Given the description of an element on the screen output the (x, y) to click on. 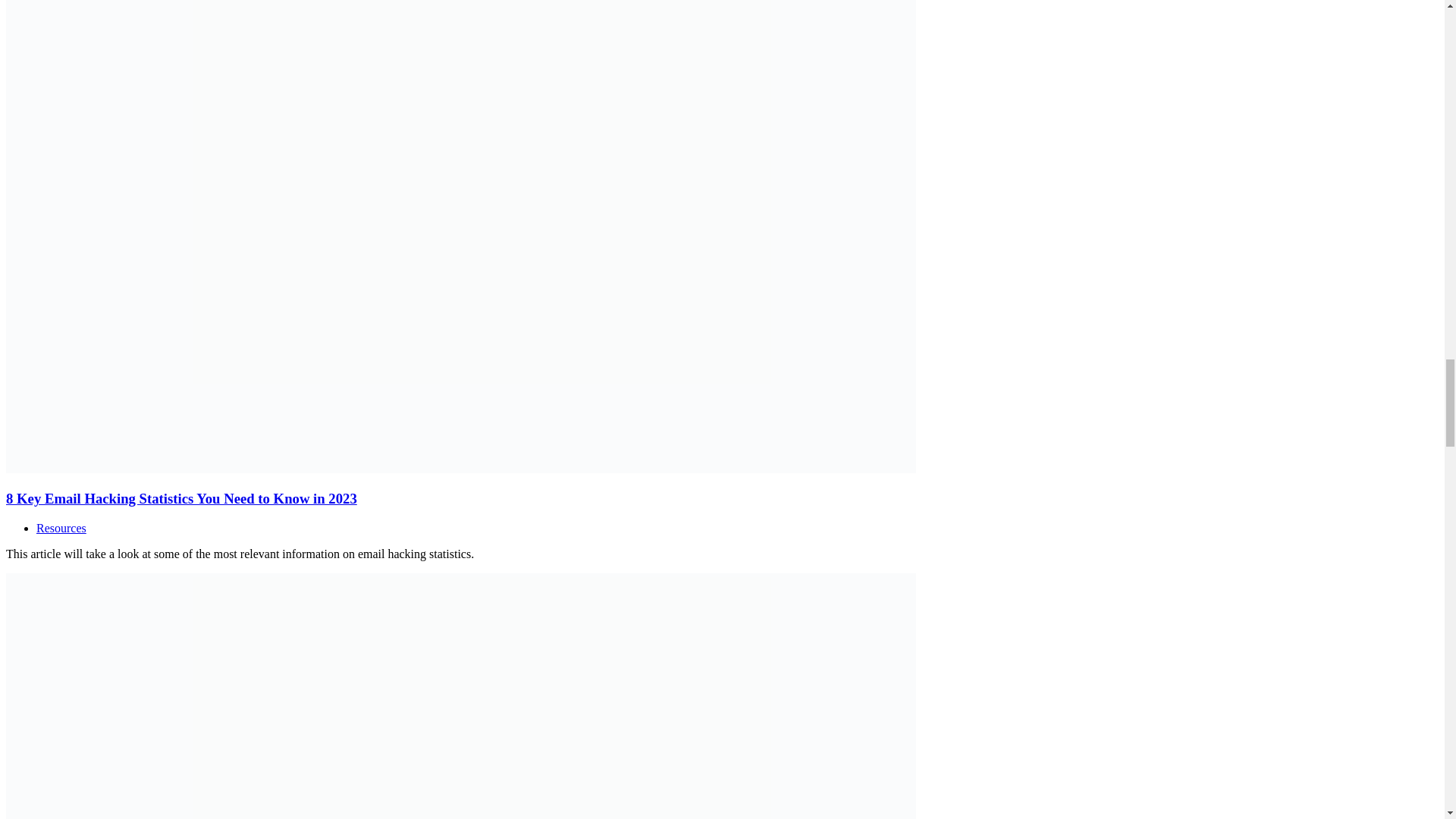
Resources (60, 527)
8 Key Email Hacking Statistics You Need to Know in 2023 (180, 498)
